Given the description of an element on the screen output the (x, y) to click on. 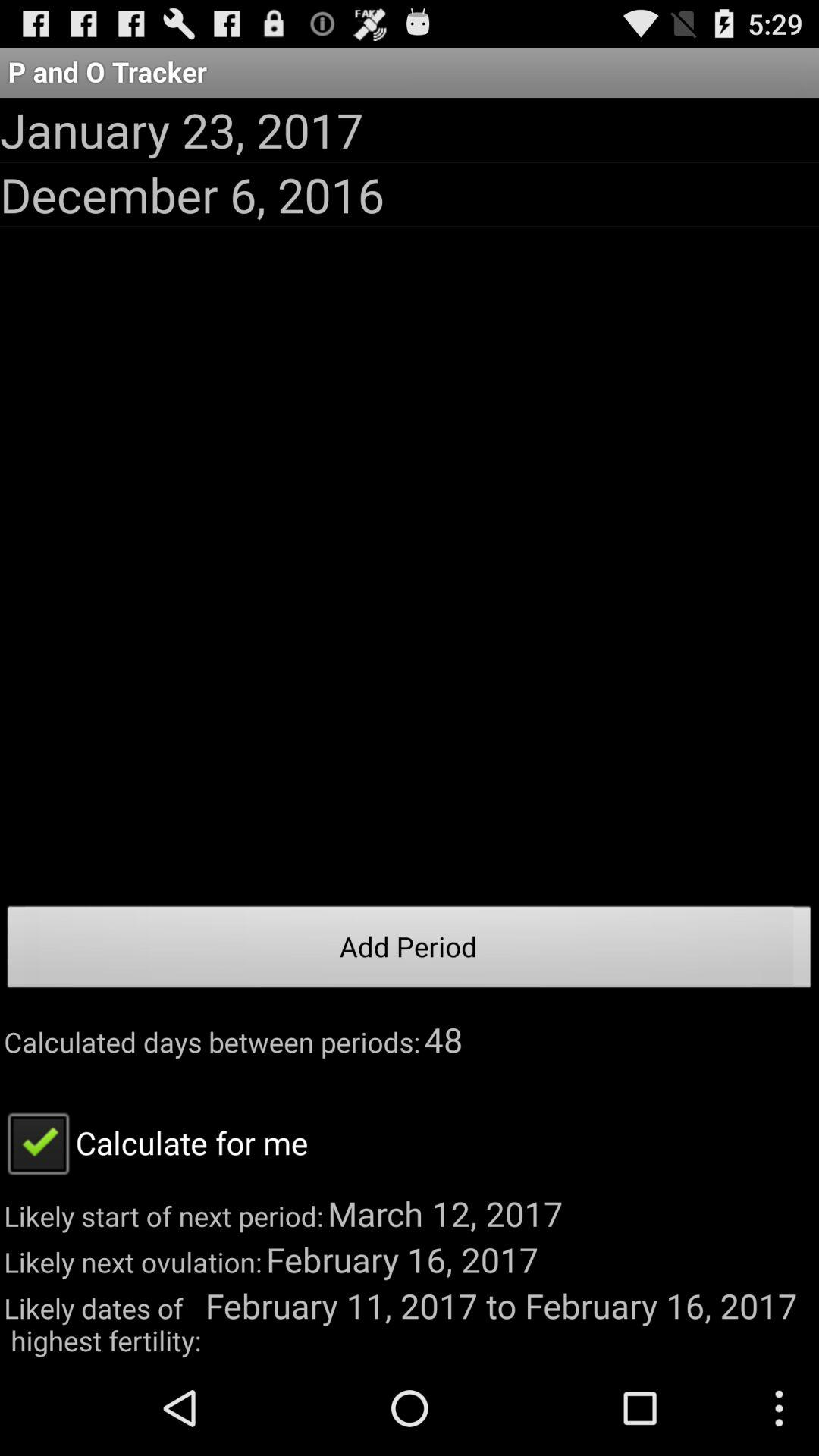
turn off add period item (409, 951)
